Given the description of an element on the screen output the (x, y) to click on. 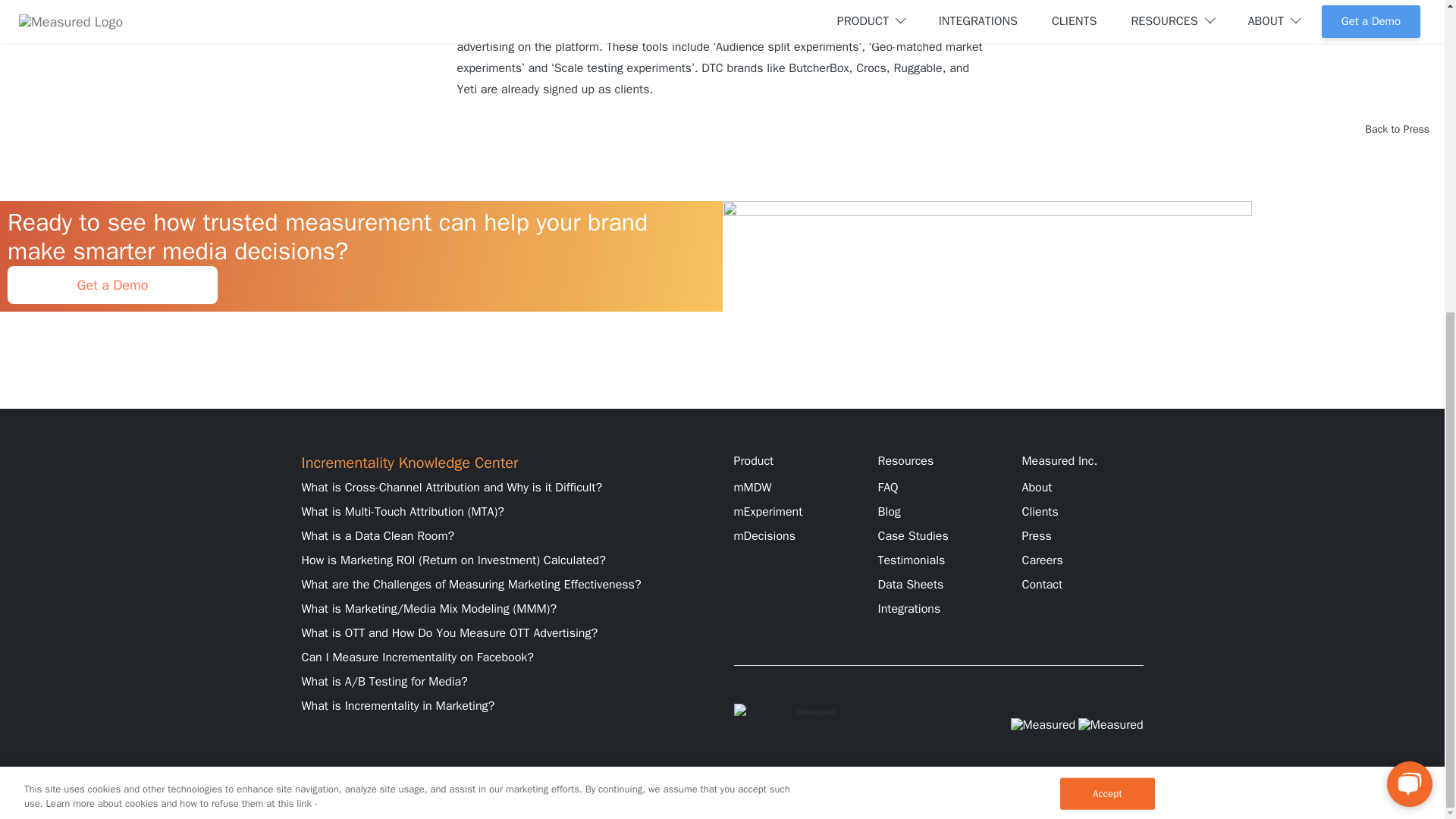
Get a Demo (111, 284)
Back to Press (1397, 128)
What is a Data Clean Room? (377, 535)
What is Cross-Channel Attribution and Why is it Difficult? (451, 487)
Incrementality Knowledge Center (409, 462)
